Given the description of an element on the screen output the (x, y) to click on. 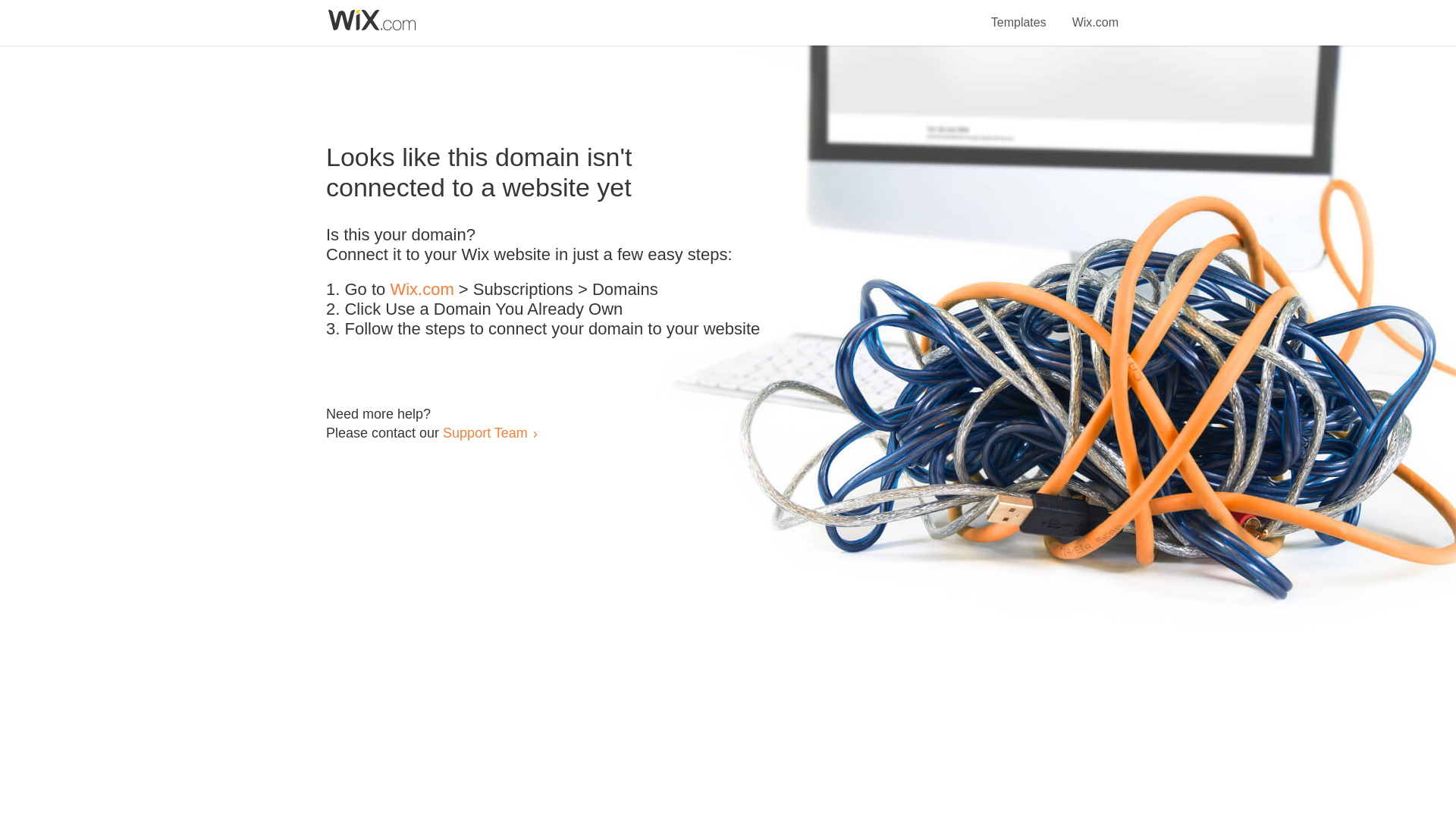
Templates (1018, 14)
Support Team (484, 432)
Wix.com (421, 289)
Wix.com (1095, 14)
